Given the description of an element on the screen output the (x, y) to click on. 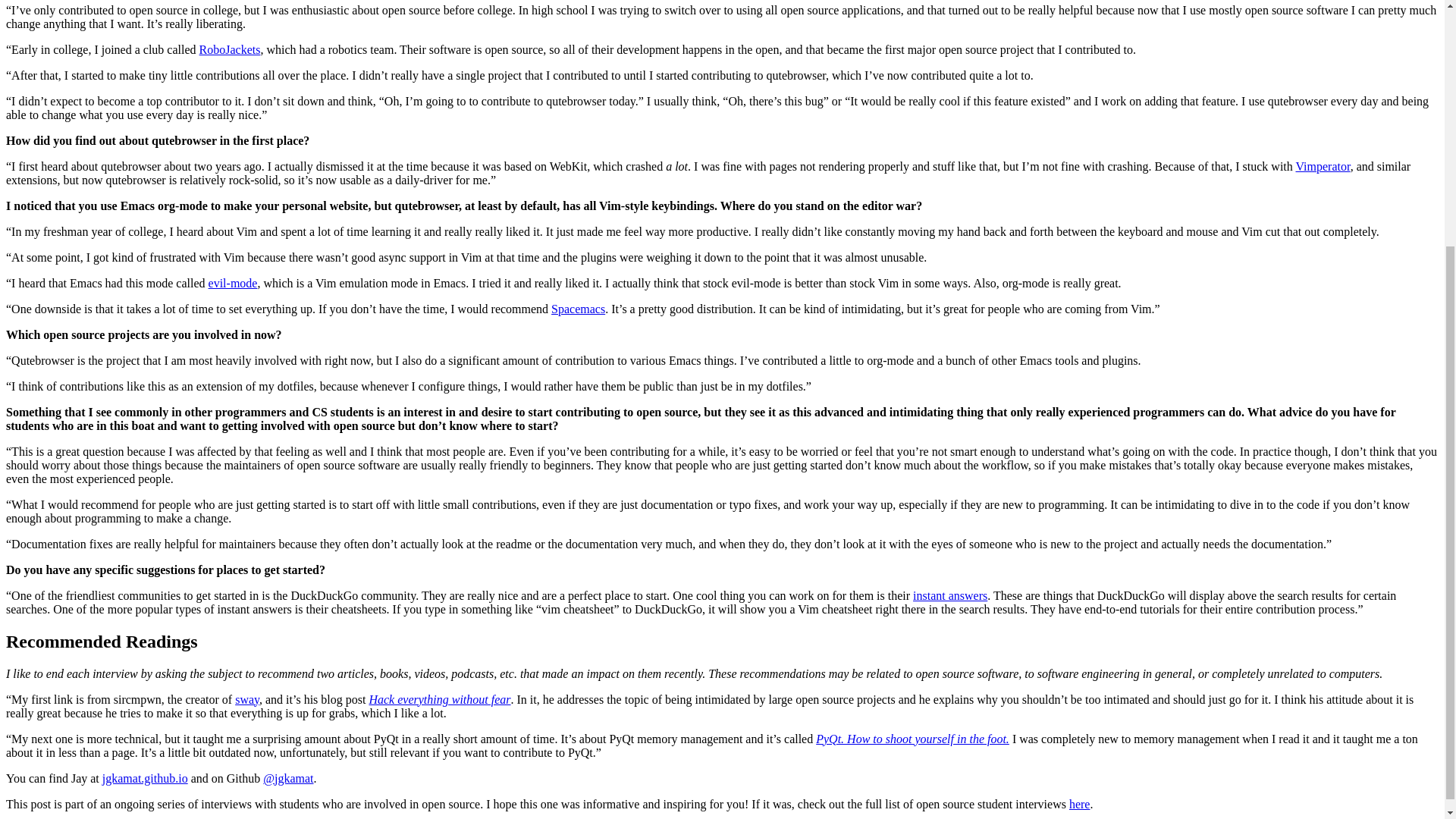
sway (246, 698)
PyQt. How to shoot yourself in the foot. (912, 738)
evil-mode (232, 282)
Spacemacs (578, 308)
Hack everything without fear (439, 698)
here (1079, 803)
Vimperator (1322, 165)
jgkamat.github.io (144, 778)
instant answers (949, 594)
RoboJackets (229, 49)
